Given the description of an element on the screen output the (x, y) to click on. 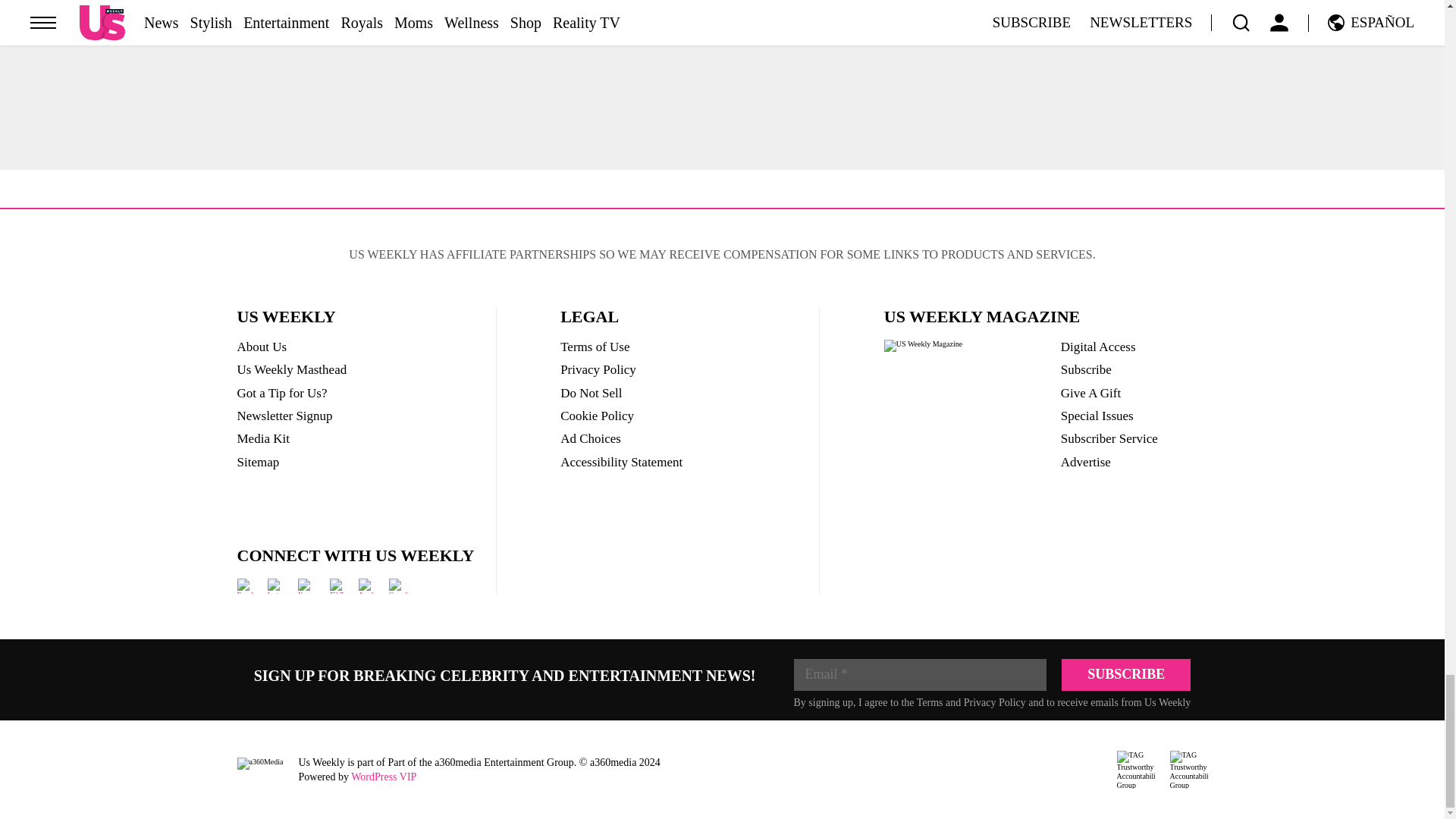
TAG Registered (1135, 769)
TAG Certified Against Fraud (1188, 769)
